Given the description of an element on the screen output the (x, y) to click on. 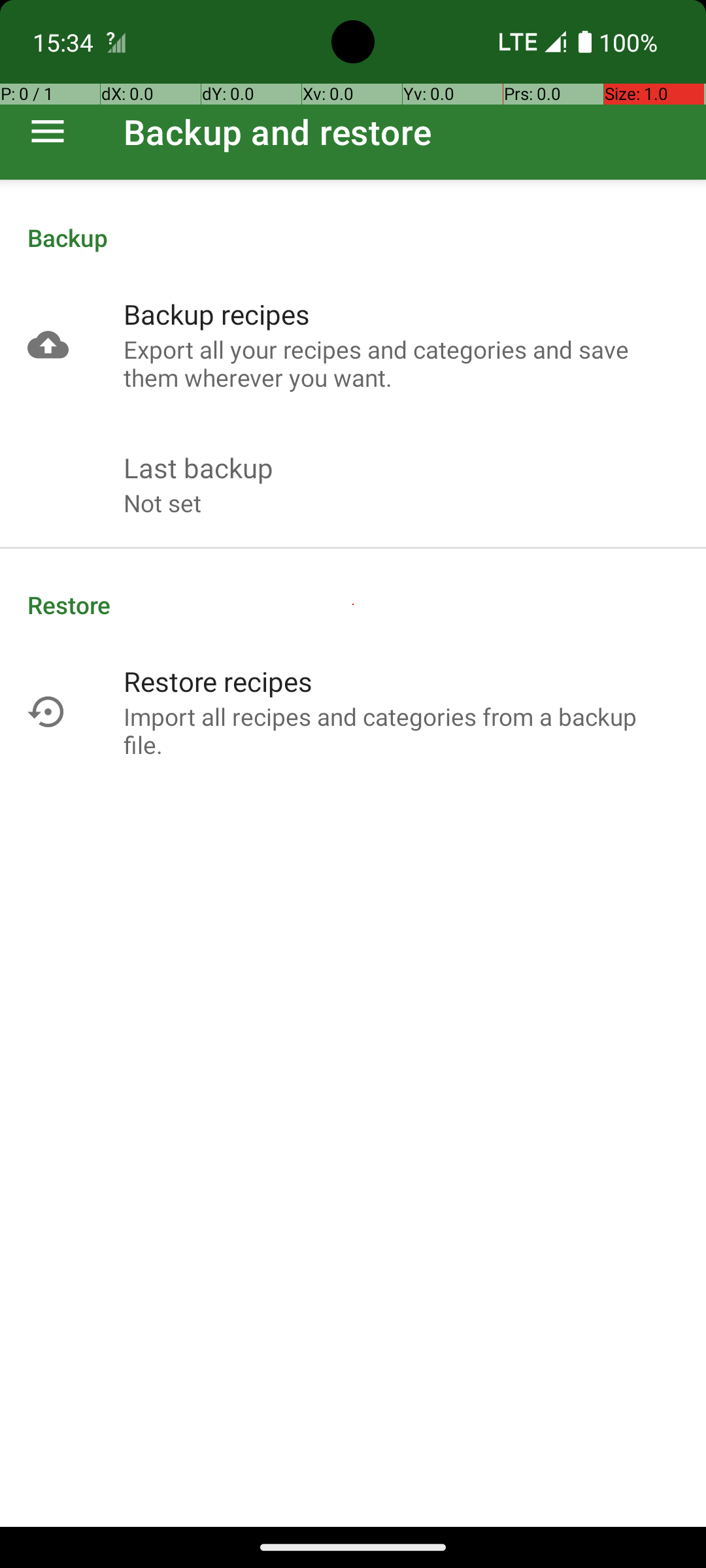
Backup recipes Element type: android.widget.TextView (216, 313)
Export all your recipes and categories and save them wherever you want. Element type: android.widget.TextView (400, 362)
Last backup Element type: android.widget.TextView (198, 467)
Not set Element type: android.widget.TextView (162, 502)
Restore Element type: android.widget.TextView (352, 604)
Restore recipes Element type: android.widget.TextView (217, 680)
Import all recipes and categories from a backup file. Element type: android.widget.TextView (400, 730)
